Given the description of an element on the screen output the (x, y) to click on. 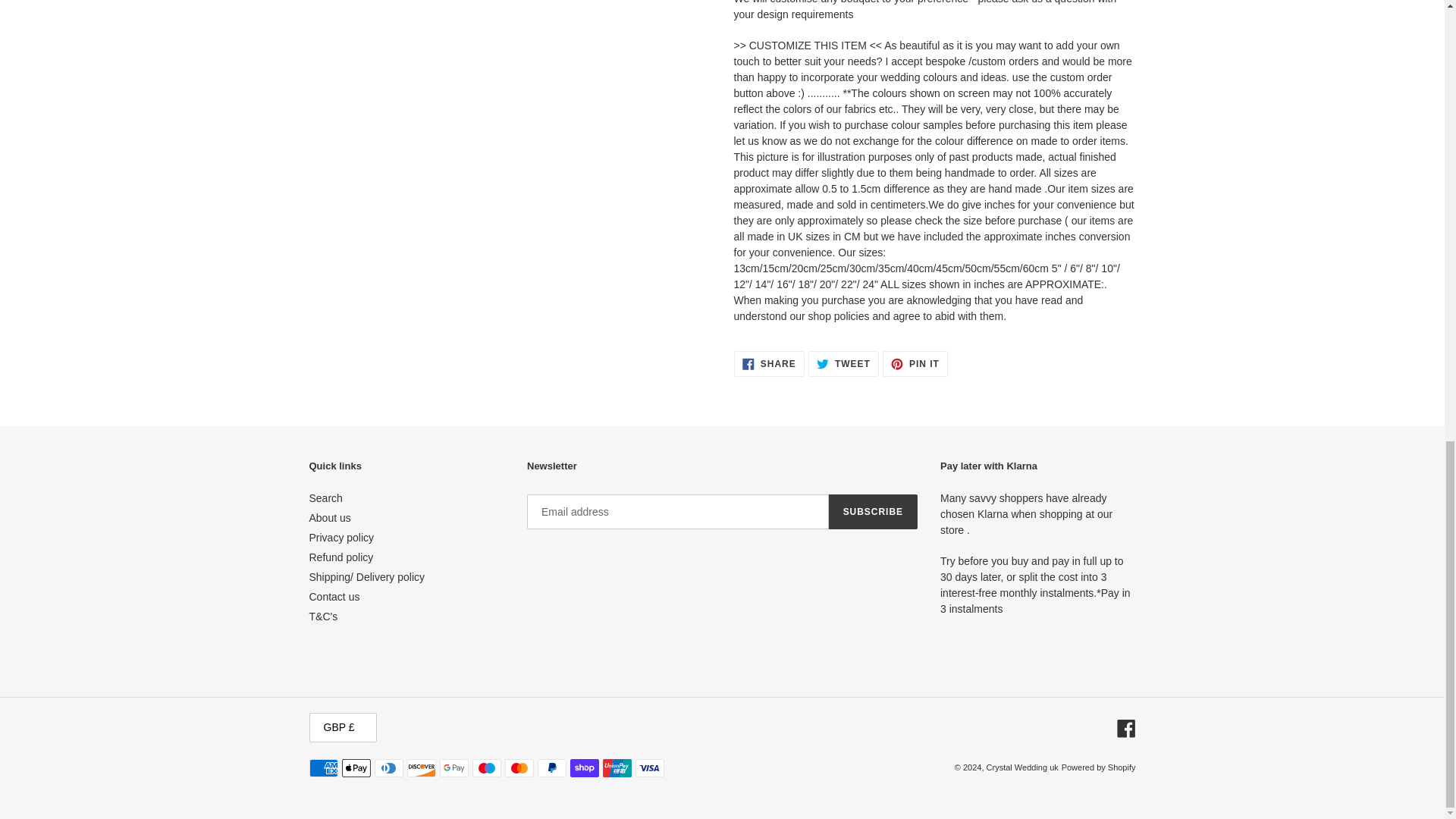
Refund policy (341, 557)
Contact us (333, 596)
About us (329, 517)
Privacy policy (341, 537)
Search (325, 498)
